Given the description of an element on the screen output the (x, y) to click on. 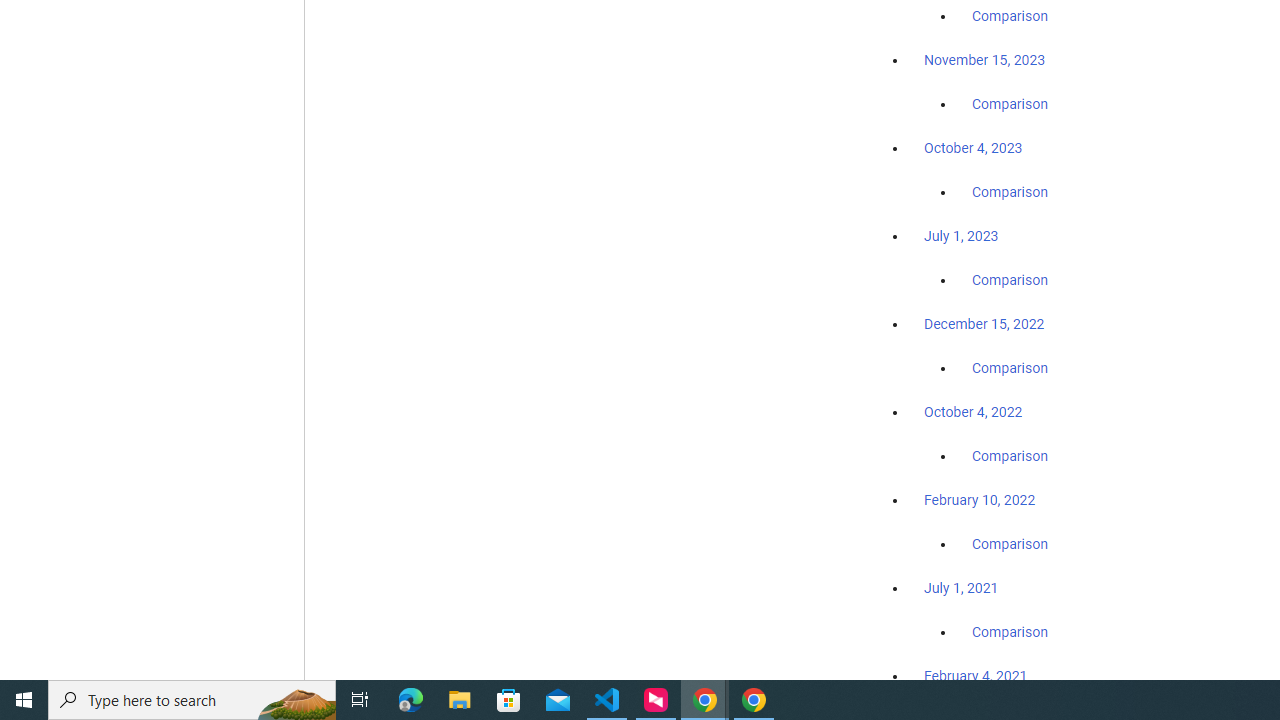
October 4, 2022 (973, 412)
Comparison (1009, 631)
October 4, 2023 (973, 148)
July 1, 2023 (961, 236)
February 10, 2022 (979, 500)
February 4, 2021 (975, 675)
July 1, 2021 (961, 587)
December 15, 2022 (984, 323)
November 15, 2023 (984, 60)
